Given the description of an element on the screen output the (x, y) to click on. 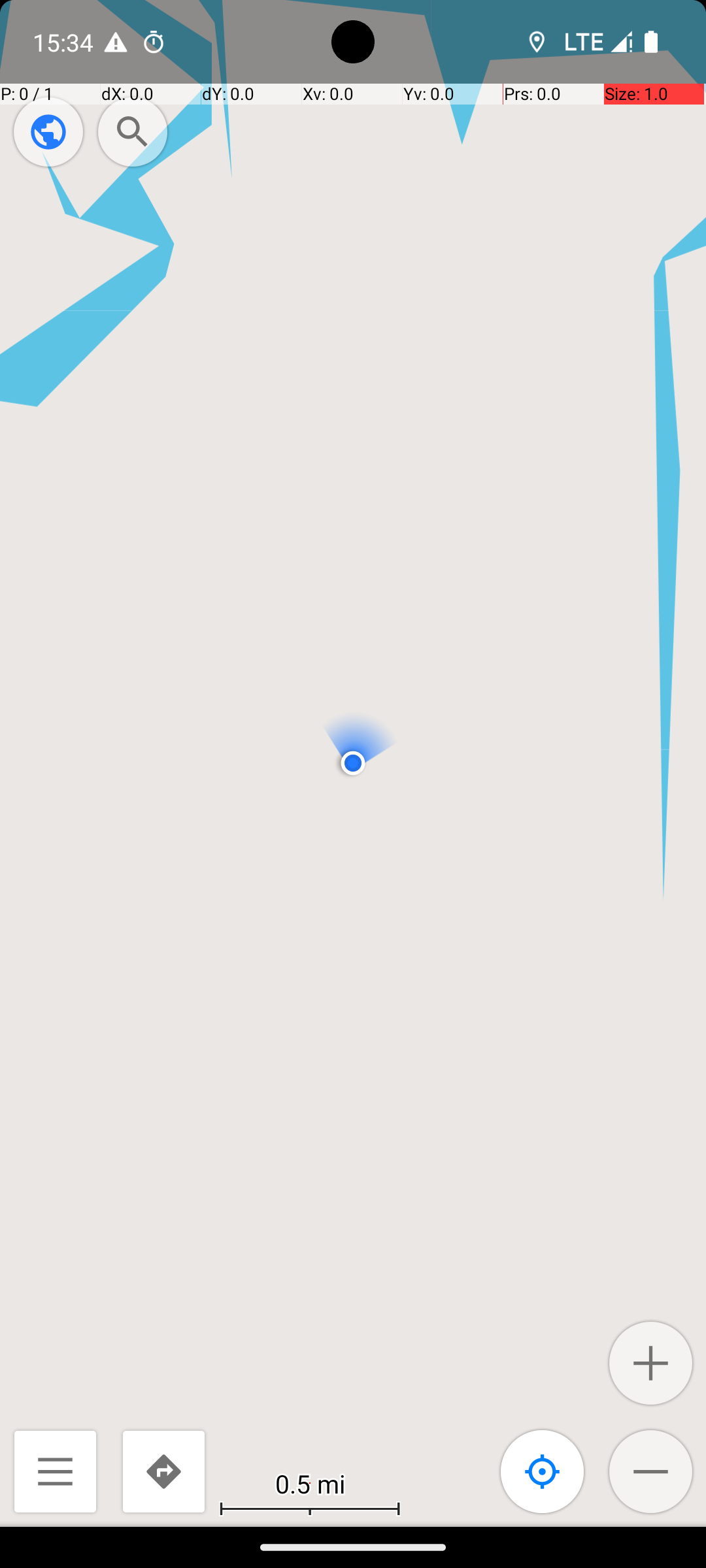
0.5 mi Element type: android.widget.TextView (309, 1483)
Map linked to location Element type: android.widget.ImageButton (542, 1471)
